Given the description of an element on the screen output the (x, y) to click on. 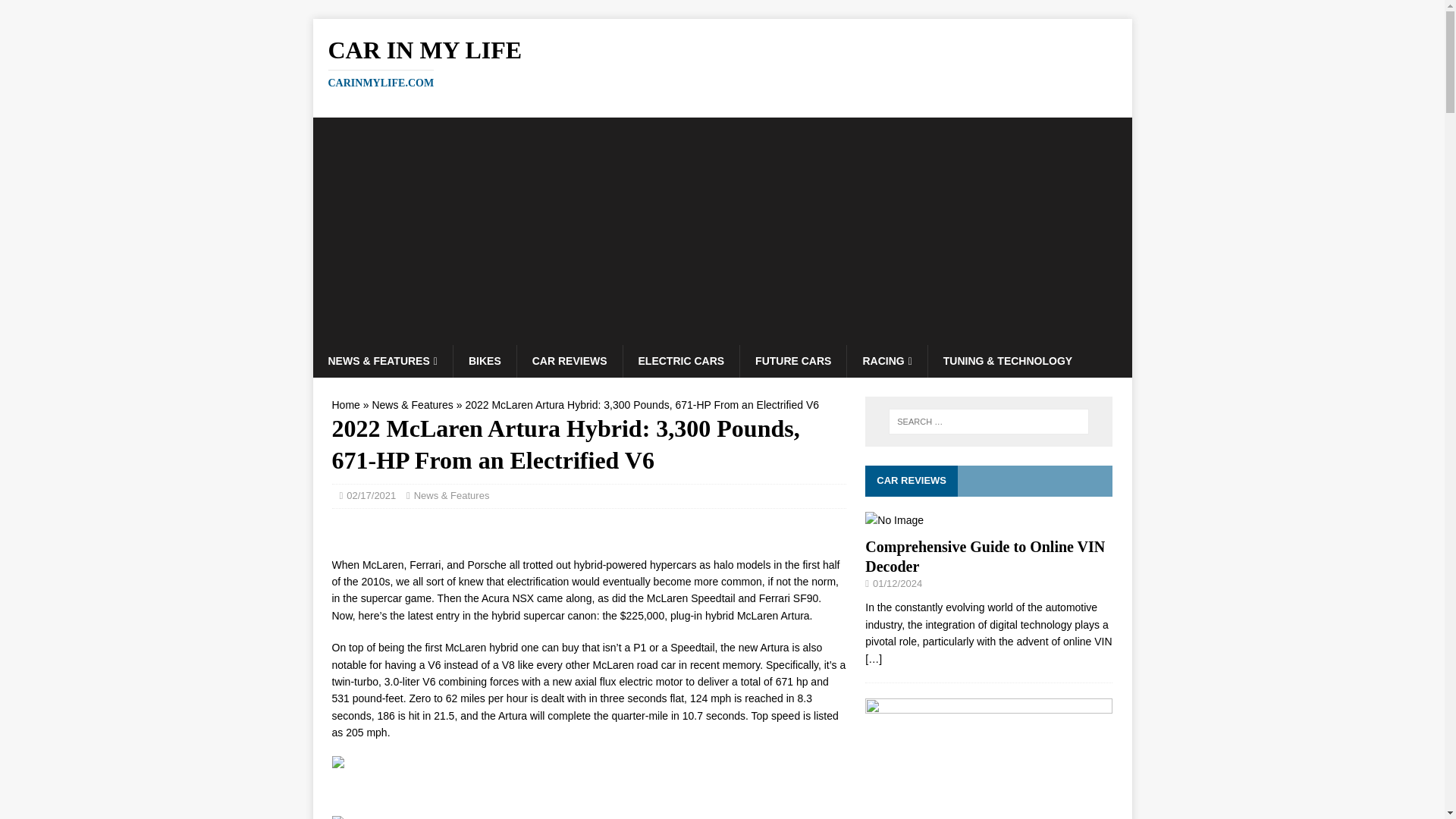
Search (721, 62)
Home (56, 11)
Comprehensive Guide to Online VIN Decoder (345, 404)
RACING (984, 556)
BIKES (885, 360)
Comprehensive Guide to Online VIN Decoder (484, 360)
FUTURE CARS (873, 658)
Car in My Life (792, 360)
Comprehensive Guide to Online VIN Decoder (721, 62)
Comprehensive Guide to Online VIN Decoder (984, 556)
CAR REVIEWS (893, 520)
ELECTRIC CARS (569, 360)
